Given the description of an element on the screen output the (x, y) to click on. 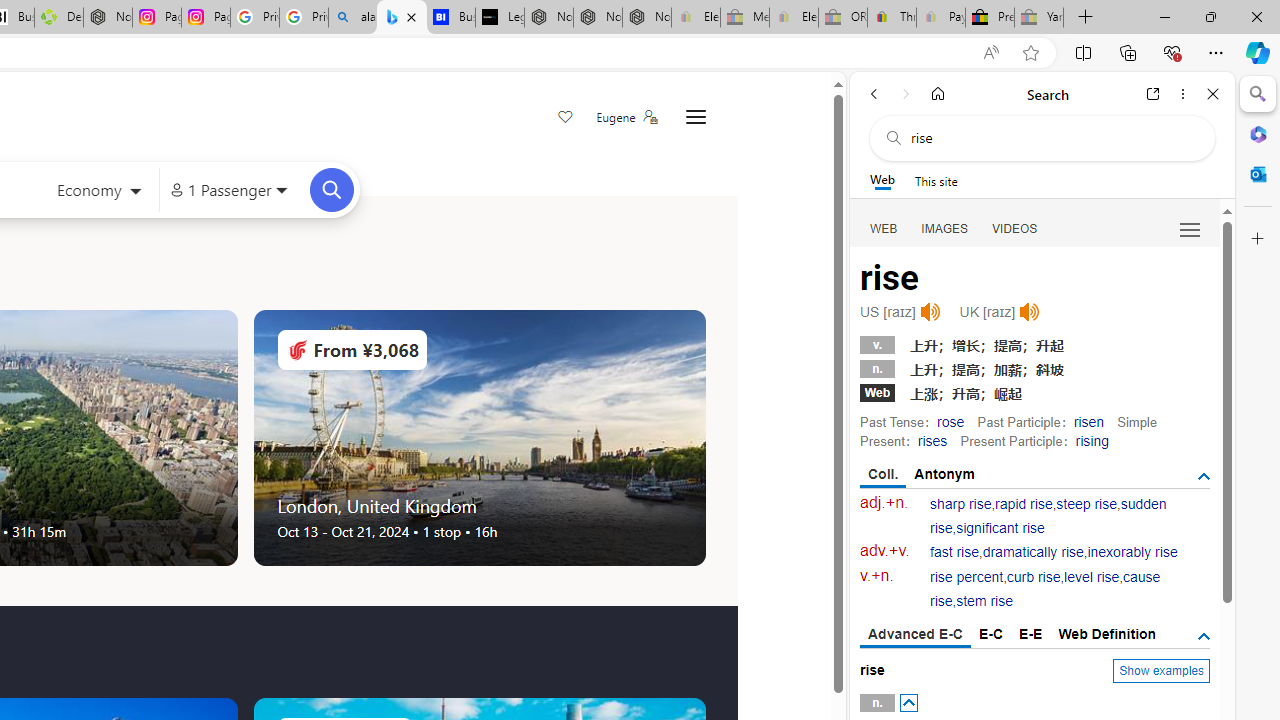
Threats and offensive language policy | eBay (891, 17)
Microsoft Bing Travel - Flights (401, 17)
sudden rise (1048, 515)
dramatically rise (1032, 552)
Payments Terms of Use | eBay.com - Sleeping (940, 17)
Click to listen (1029, 312)
